Given the description of an element on the screen output the (x, y) to click on. 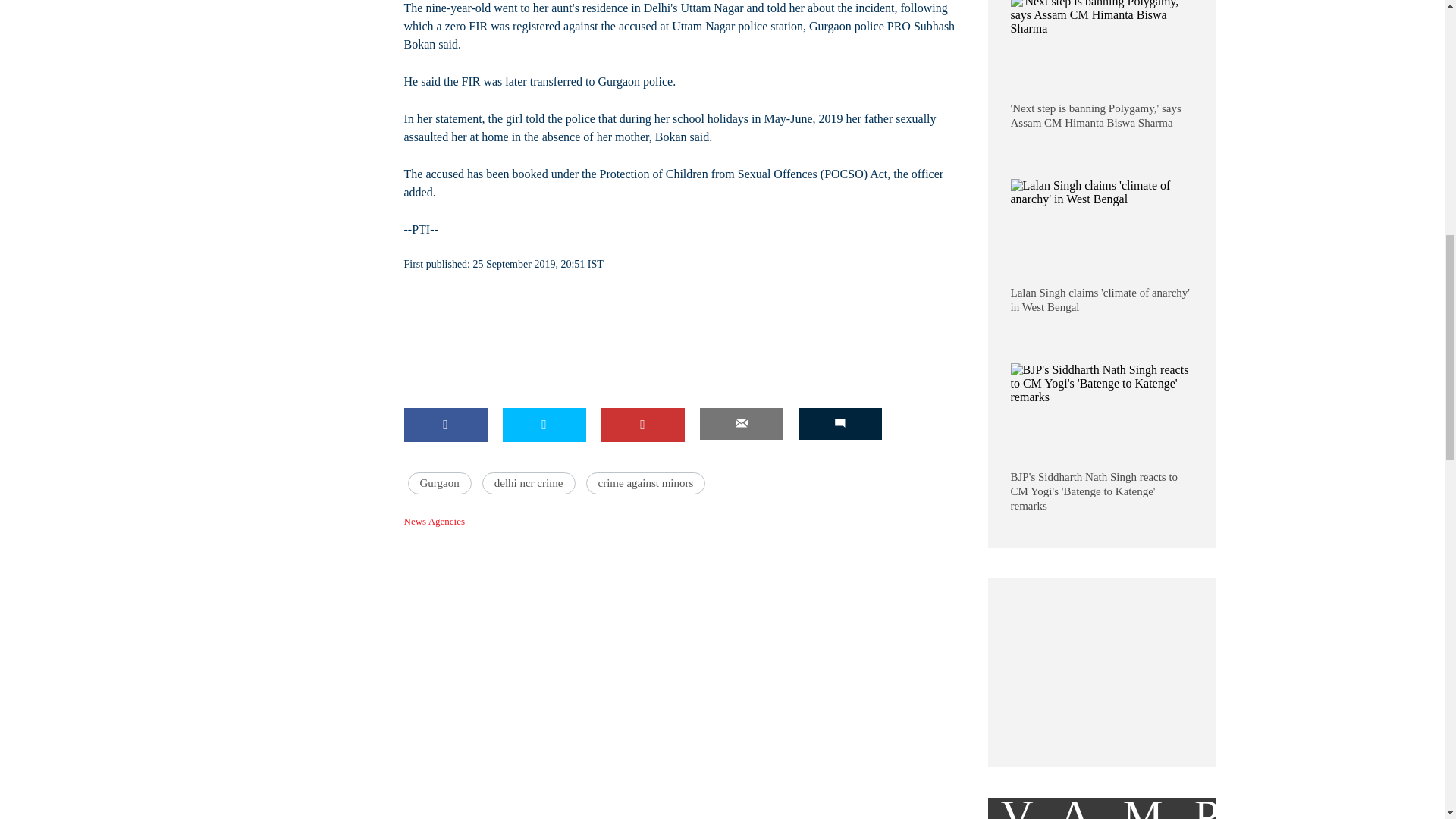
Gurgaon (439, 483)
crime against minors (646, 483)
delhi ncr crime (528, 483)
